Given the description of an element on the screen output the (x, y) to click on. 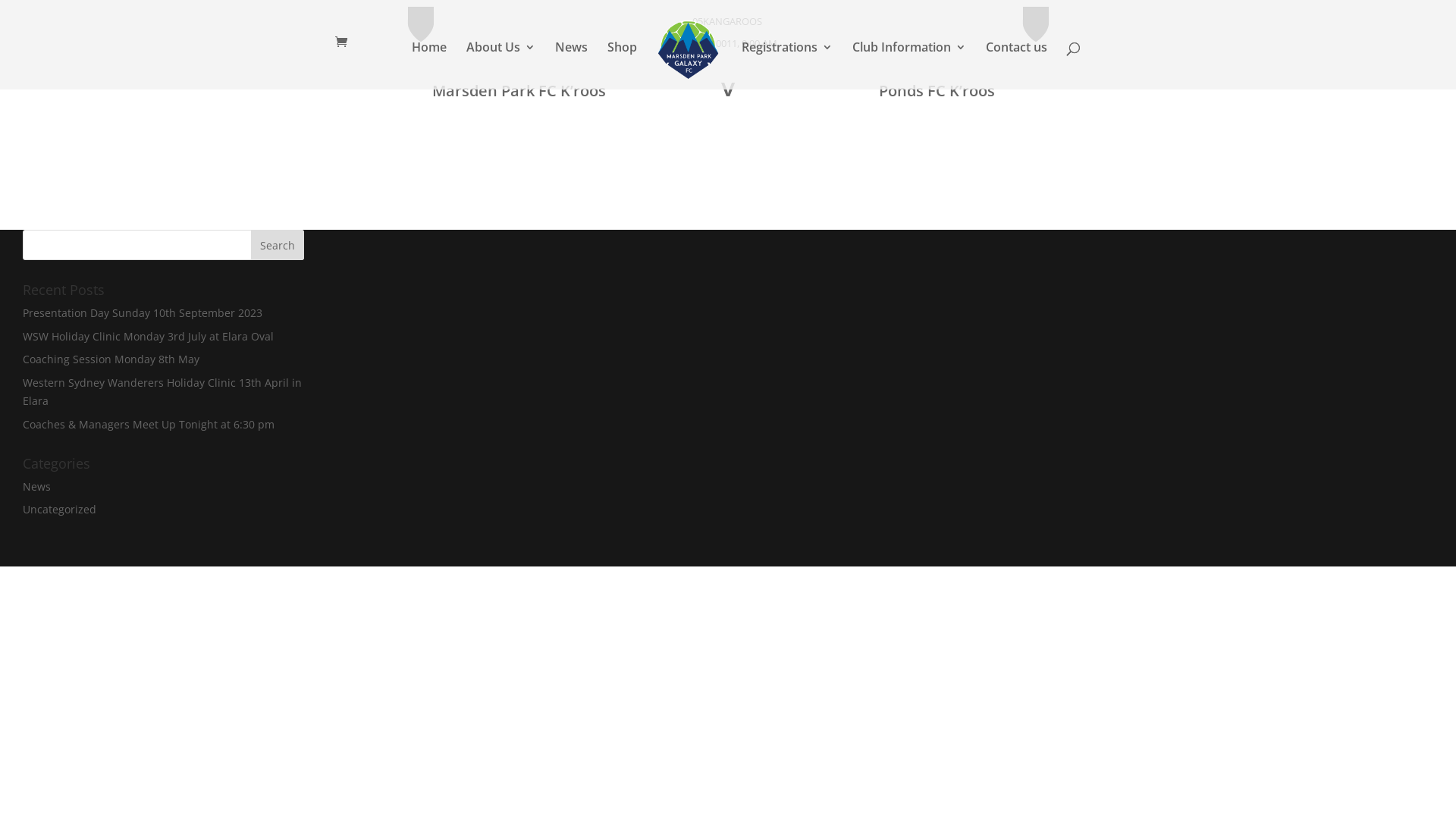
About Us Element type: text (500, 65)
News Element type: text (571, 65)
Registrations Element type: text (786, 65)
Shop Element type: text (622, 65)
Presentation Day Sunday 10th September 2023 Element type: text (142, 312)
Search Element type: text (277, 244)
Contact us Element type: text (1016, 65)
WSW Holiday Clinic Monday 3rd July at Elara Oval Element type: text (147, 336)
Coaching Session Monday 8th May Element type: text (110, 358)
Western Sydney Wanderers Holiday Clinic 13th April in Elara Element type: text (161, 391)
Coaches & Managers Meet Up Tonight at 6:30 pm Element type: text (148, 424)
Home Element type: text (428, 65)
News Element type: text (36, 486)
Uncategorized Element type: text (59, 509)
Club Information Element type: text (909, 65)
